Given the description of an element on the screen output the (x, y) to click on. 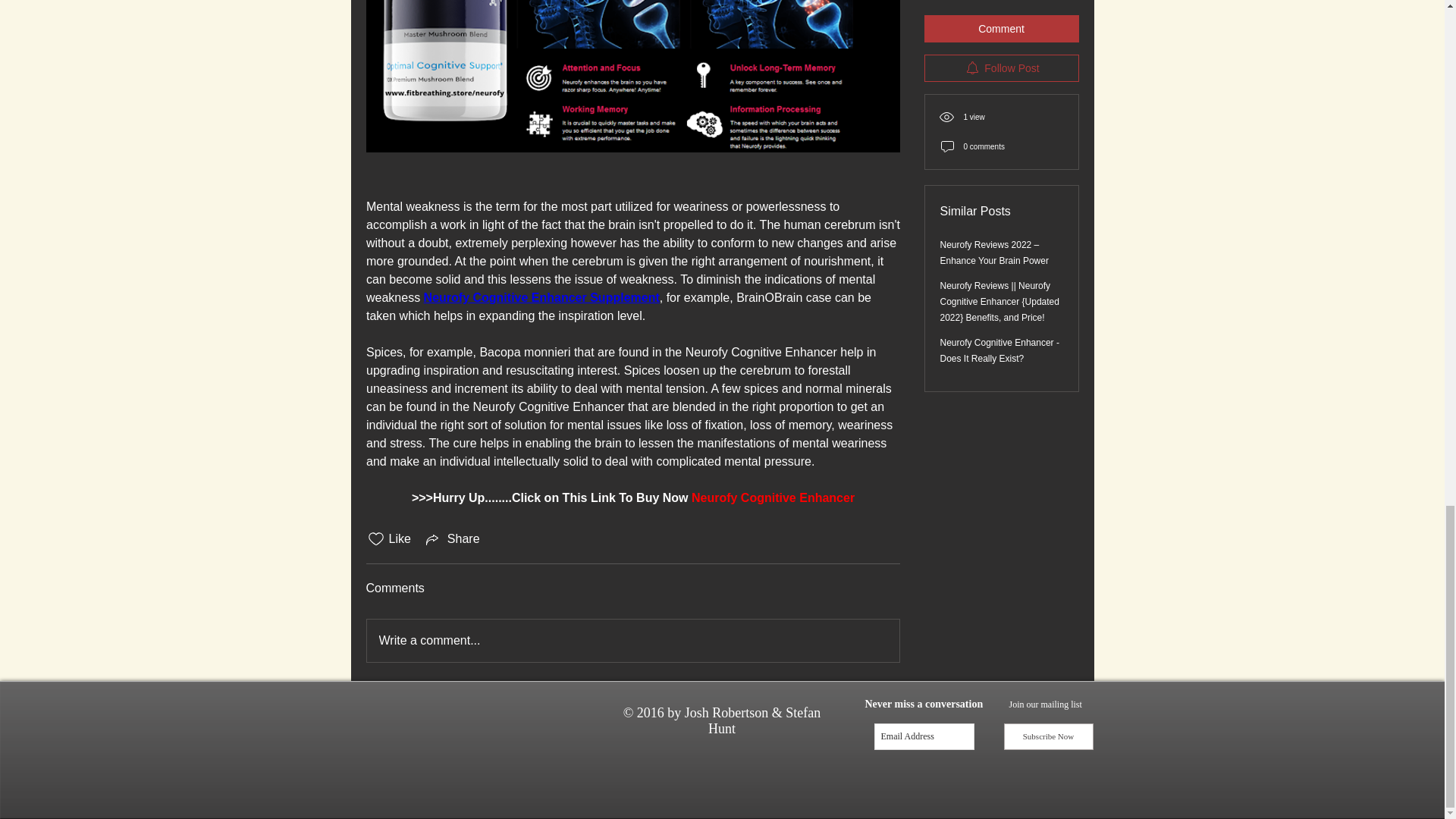
Neurofy Cognitive Enhancer Supplement (541, 297)
Neurofy Cognitive Enhancer (771, 497)
Subscribe Now (1048, 736)
Write a comment... (632, 640)
Share (451, 538)
